Given the description of an element on the screen output the (x, y) to click on. 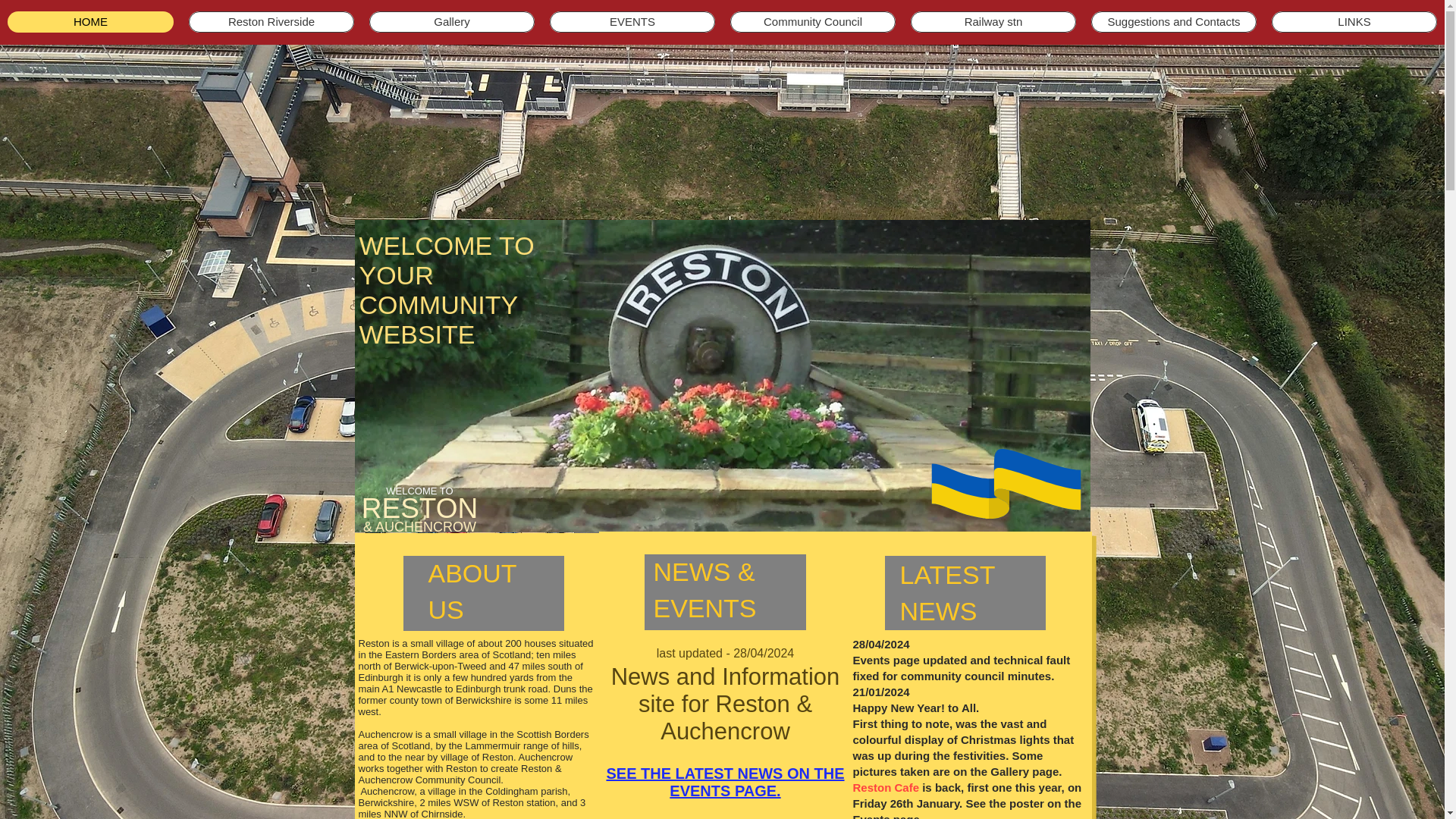
Community Council (812, 21)
LINKS (1354, 21)
Gallery (451, 21)
Railway stn (993, 21)
Reston Riverside (271, 21)
EVENTS (632, 21)
Suggestions and Contacts (1173, 21)
HOME (90, 21)
